Given the description of an element on the screen output the (x, y) to click on. 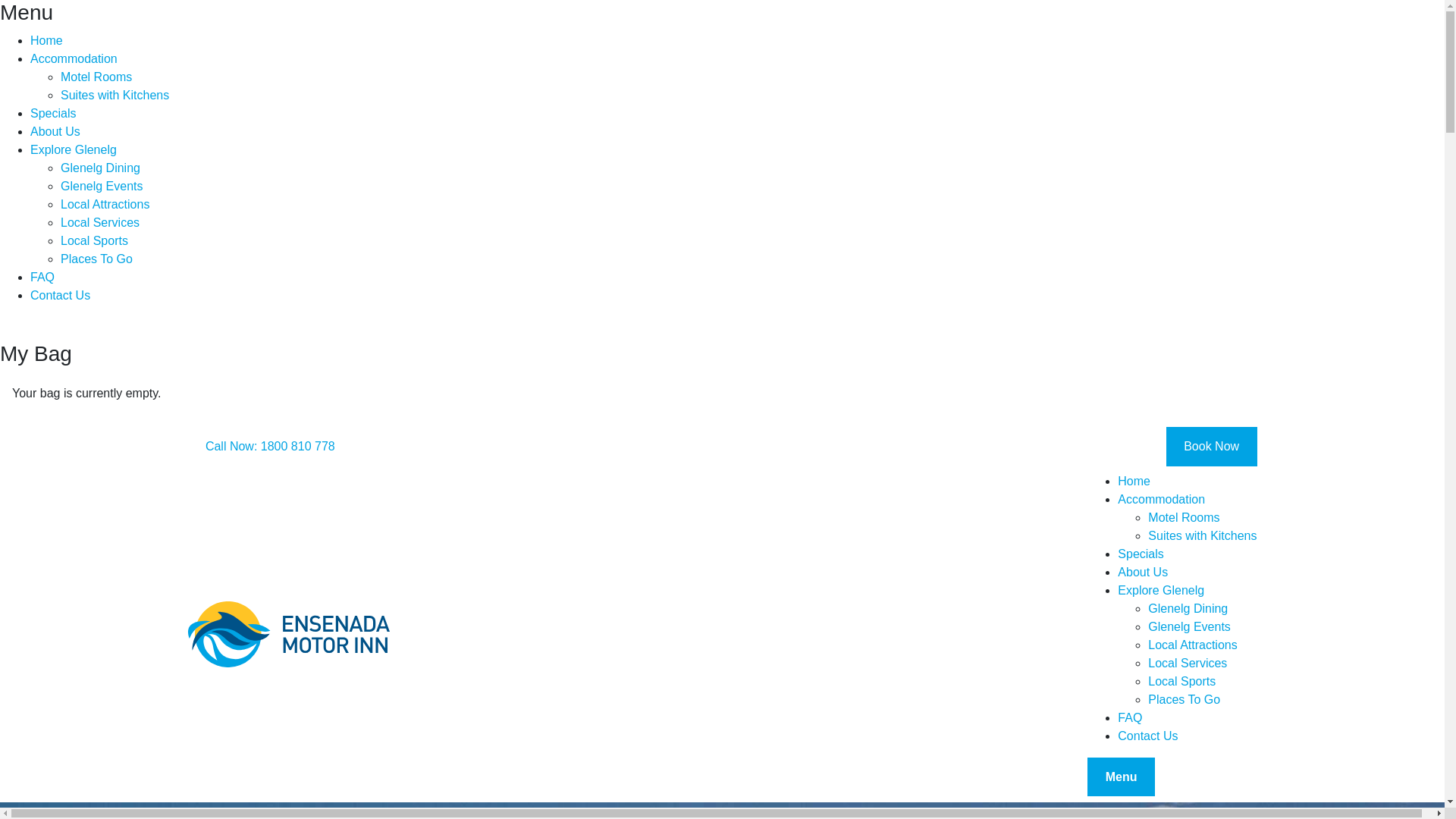
FAQ Element type: text (737, 277)
Ensenada Motor Inn & Suites Element type: hover (288, 634)
Specials Element type: text (1186, 554)
Motel Rooms Element type: text (752, 77)
Local Attractions Element type: text (752, 204)
Accommodation Element type: text (1186, 499)
Local Services Element type: text (1202, 663)
Home Element type: text (737, 40)
Explore Glenelg Element type: text (737, 150)
About Us Element type: text (737, 131)
Local Sports Element type: text (752, 241)
Places To Go Element type: text (1202, 699)
Home Element type: text (1186, 481)
Local Sports Element type: text (1202, 681)
Explore Glenelg Element type: text (1186, 590)
Book Now Element type: text (1211, 446)
Suites with Kitchens Element type: text (752, 95)
Contact Us Element type: text (1186, 736)
Places To Go Element type: text (752, 259)
Menu Element type: text (1120, 777)
Call Now: 1800 810 778 Element type: text (270, 446)
Contact Us Element type: text (737, 295)
Glenelg Dining Element type: text (752, 168)
Glenelg Dining Element type: text (1202, 608)
Local Services Element type: text (752, 222)
FAQ Element type: text (1186, 718)
Glenelg Events Element type: text (752, 186)
About Us Element type: text (1186, 572)
Suites with Kitchens Element type: text (1202, 536)
Specials Element type: text (737, 113)
Local Attractions Element type: text (1202, 645)
Glenelg Events Element type: text (1202, 627)
Motel Rooms Element type: text (1202, 517)
Accommodation Element type: text (737, 59)
